Given the description of an element on the screen output the (x, y) to click on. 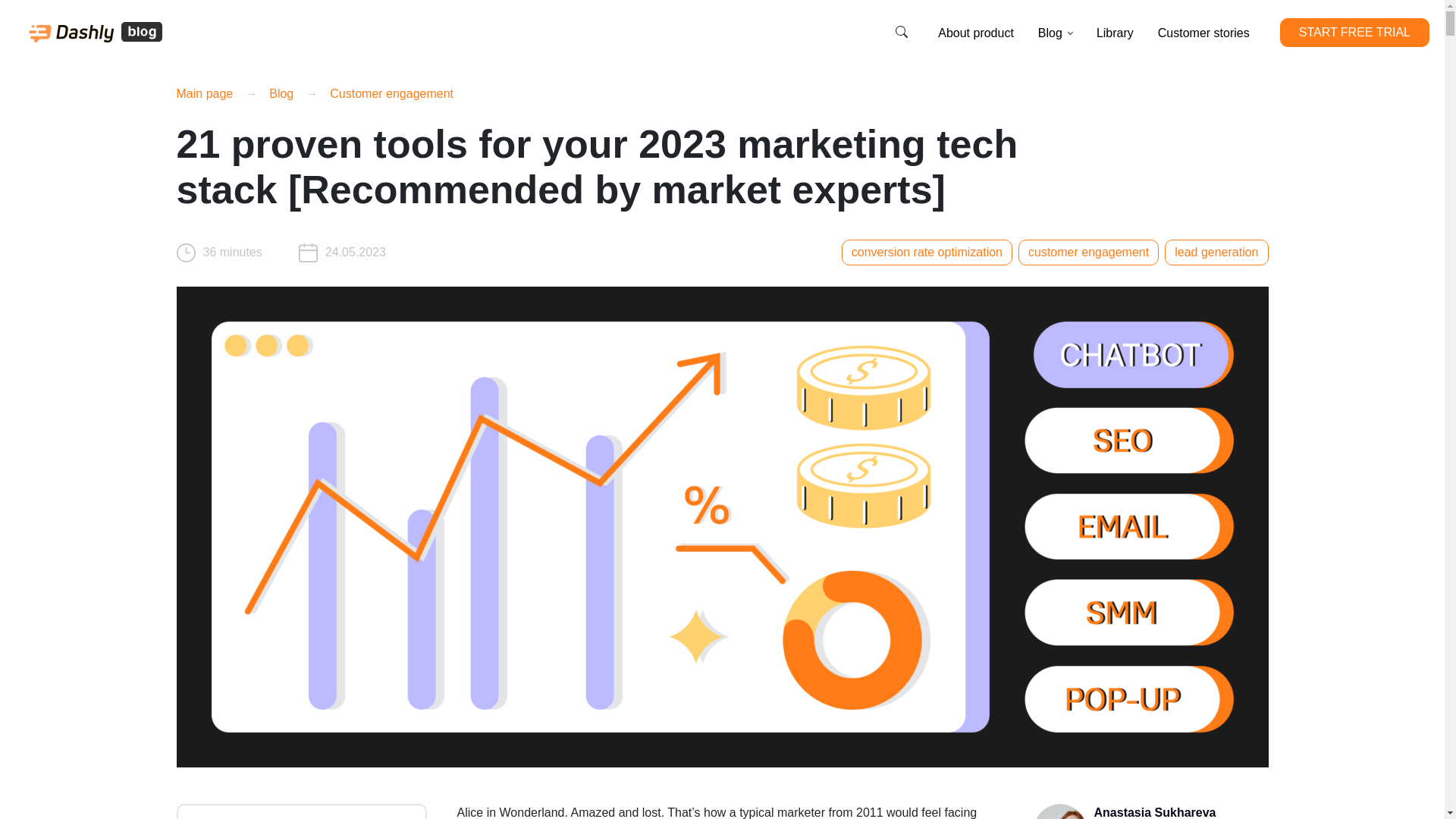
Customer stories (1203, 33)
START FREE TRIAL (1354, 32)
Customer engagement (391, 92)
Blog (1055, 33)
About product (975, 33)
Main page (204, 92)
conversion rate optimization (926, 252)
Blog (281, 92)
Library (1115, 33)
customer engagement (1087, 252)
lead generation (1216, 252)
